Given the description of an element on the screen output the (x, y) to click on. 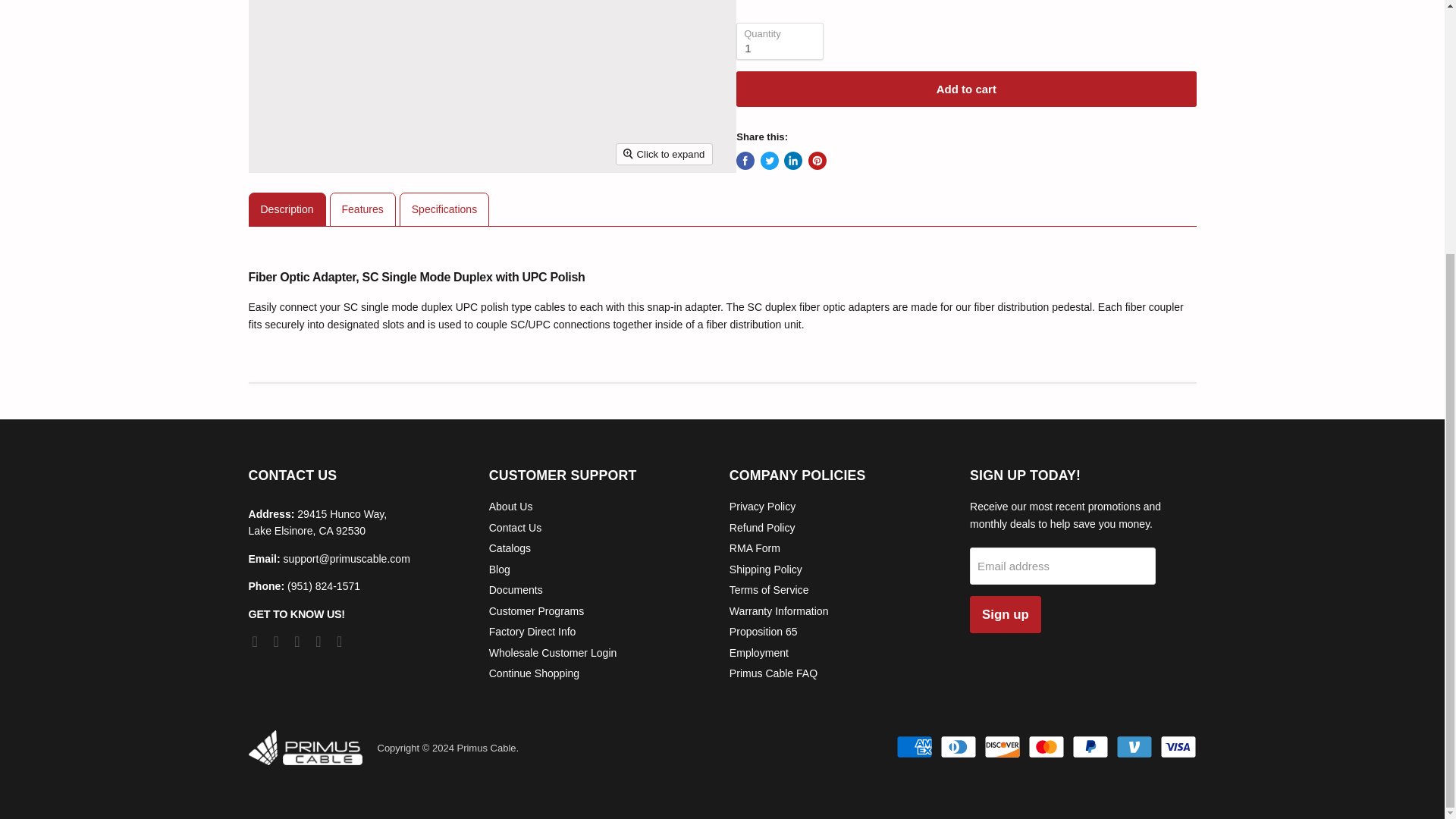
Pin on Pinterest (817, 160)
Description (287, 209)
Share on LinkedIn (793, 160)
Specifications (443, 209)
Factory Direct Info (532, 631)
Blog (500, 569)
Add to cart (965, 89)
About Us (510, 506)
Mastercard (1045, 746)
Venmo (1134, 746)
